Given the description of an element on the screen output the (x, y) to click on. 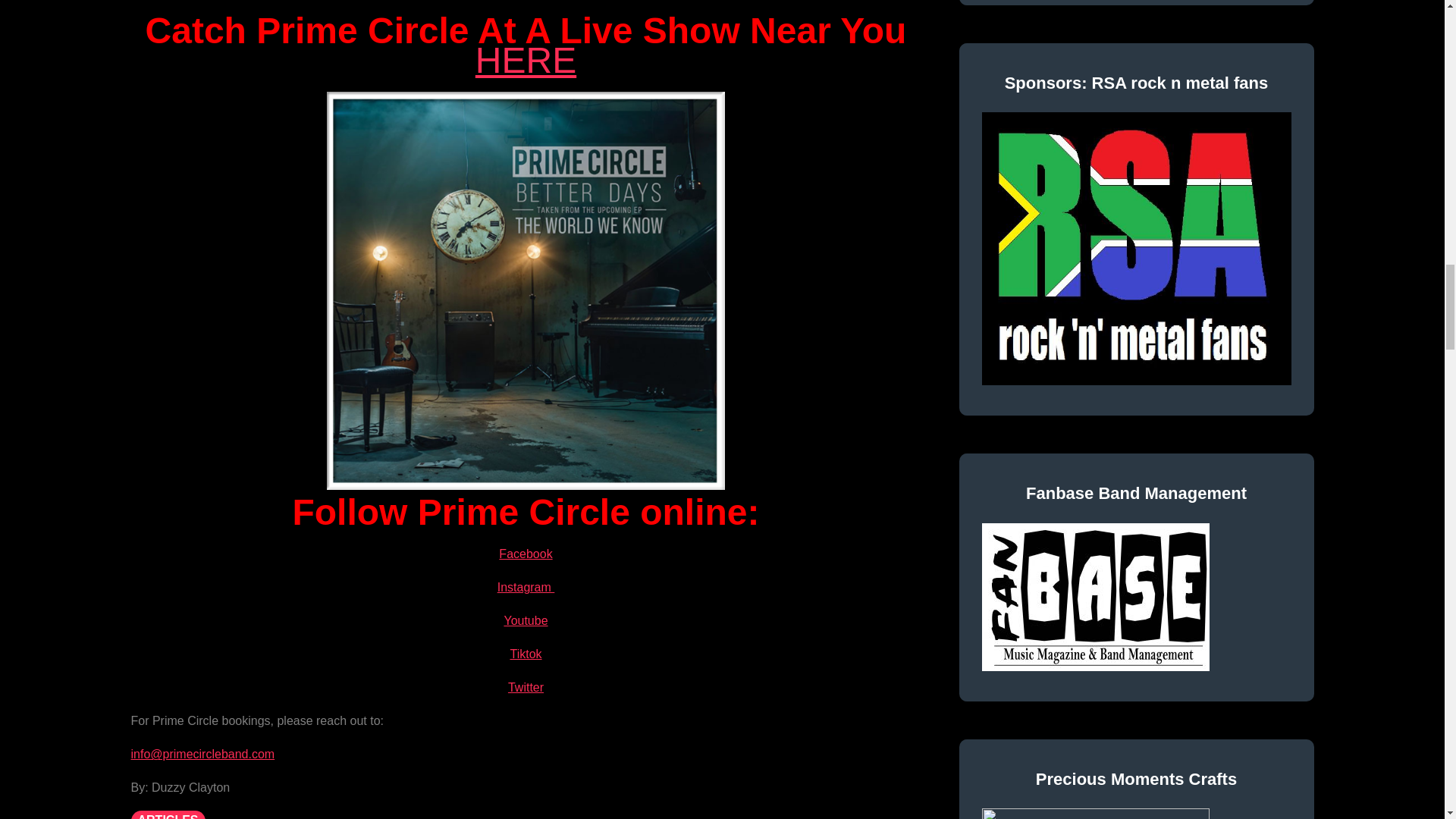
Instagram  (525, 586)
HERE (526, 60)
Youtube (525, 620)
Twitter (525, 686)
Tiktok (525, 653)
Facebook (525, 553)
ARTICLES (168, 814)
Duzzy Clayton (190, 787)
